Given the description of an element on the screen output the (x, y) to click on. 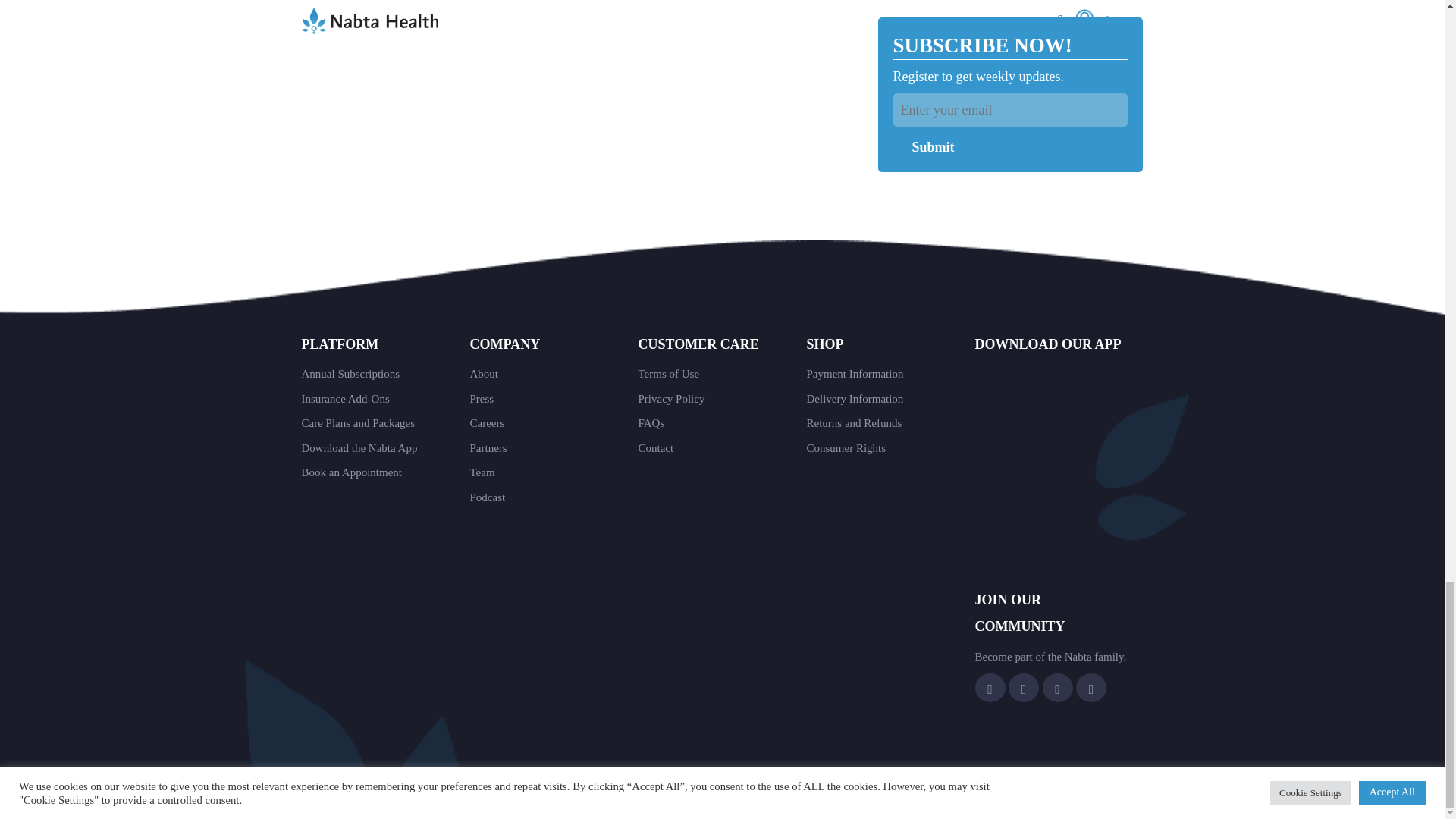
Submit (928, 146)
